Given the description of an element on the screen output the (x, y) to click on. 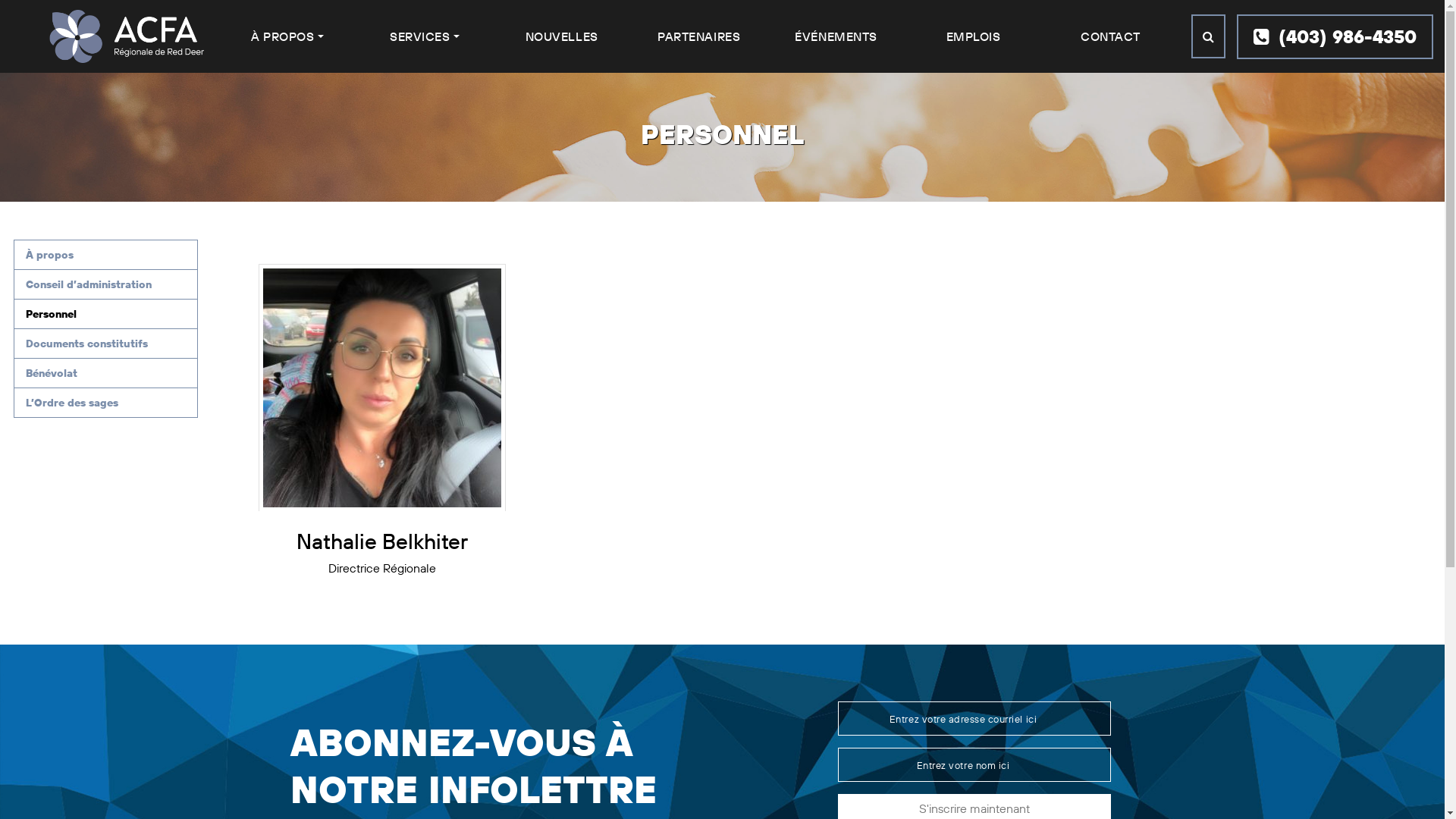
Personnel Element type: text (105, 313)
Documents constitutifs Element type: text (105, 343)
SERVICES Element type: text (424, 36)
PARTENAIRES Element type: text (698, 36)
NOUVELLES Element type: text (561, 36)
CONTACT Element type: text (1110, 36)
EMPLOIS Element type: text (973, 36)
Search Element type: hover (1208, 36)
(403) 986-4350 Element type: text (1334, 35)
